Given the description of an element on the screen output the (x, y) to click on. 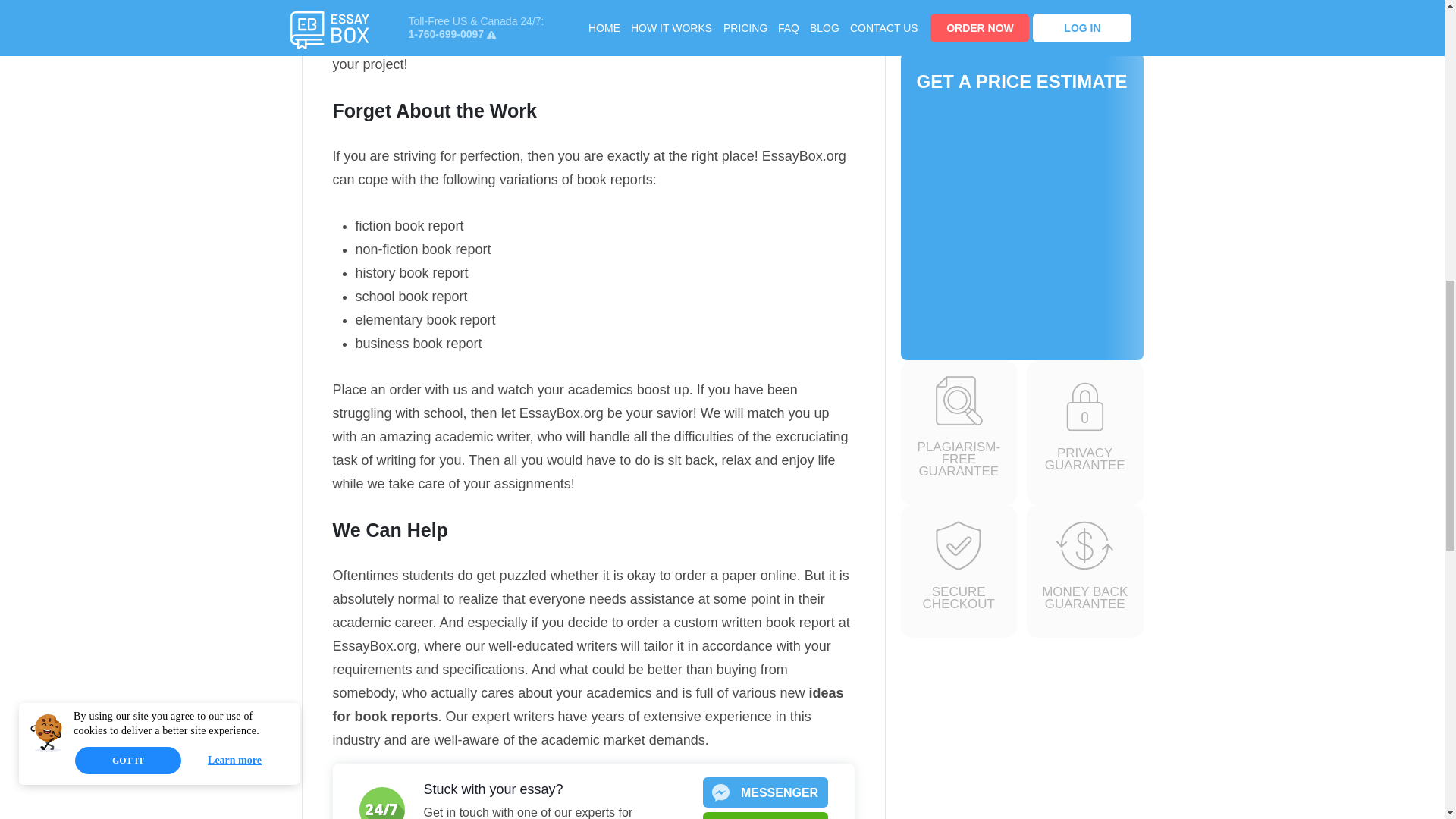
MESSENGER (764, 792)
